Given the description of an element on the screen output the (x, y) to click on. 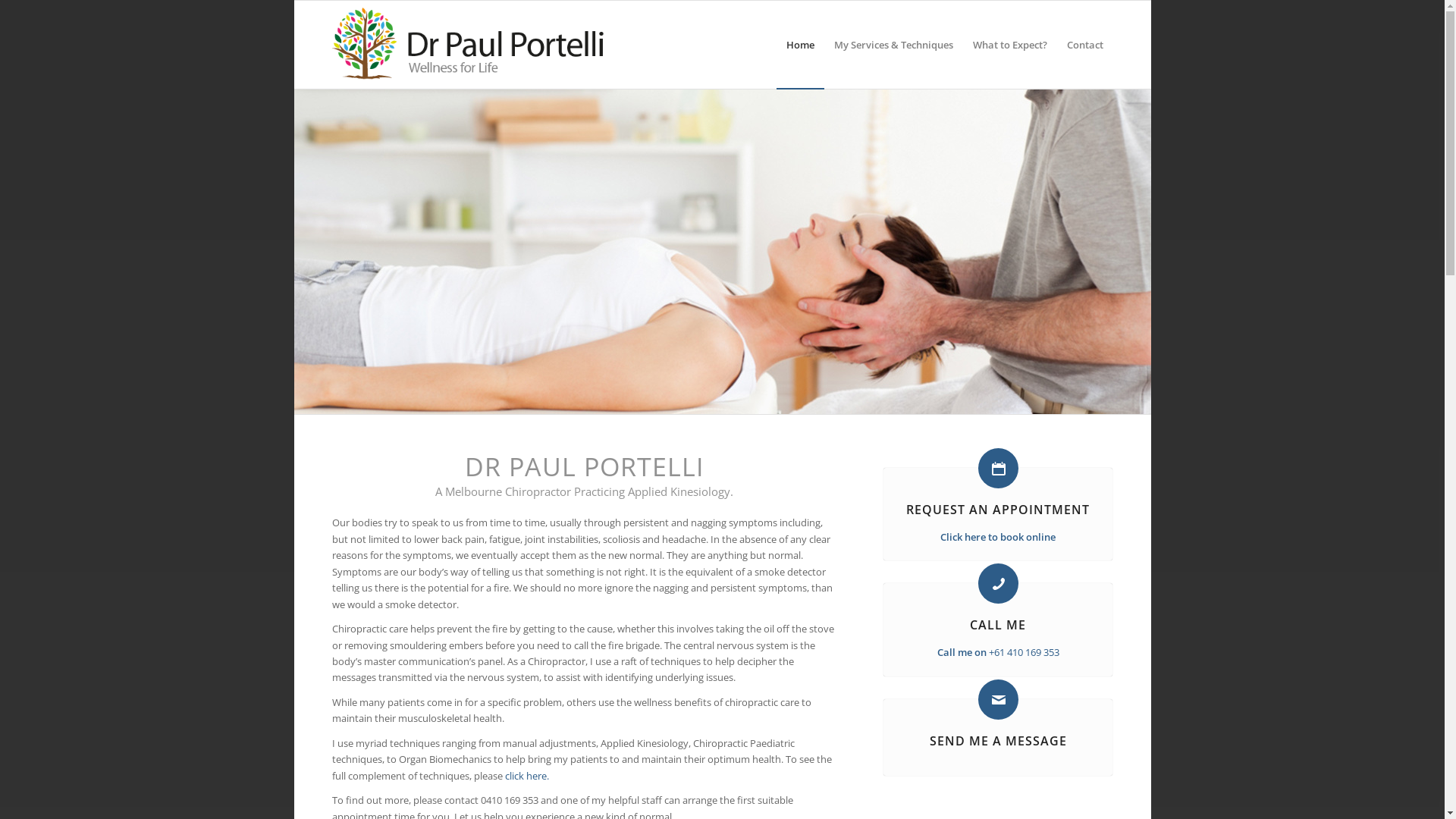
What to Expect? Element type: text (1010, 44)
SEND ME A MESSAGE Element type: text (997, 740)
Call me Element type: hover (998, 583)
Request an Appointment Element type: hover (998, 468)
My Services & Techniques Element type: text (892, 44)
Send me a message Element type: hover (998, 699)
Click here to book online Element type: text (997, 536)
Contact Element type: text (1085, 44)
click here. Element type: text (527, 775)
home Element type: hover (722, 250)
Home Element type: text (800, 44)
CALL ME Element type: text (997, 624)
REQUEST AN APPOINTMENT Element type: text (997, 509)
Call me on Element type: text (962, 651)
+61 410 169 353 Element type: text (1023, 651)
